Given the description of an element on the screen output the (x, y) to click on. 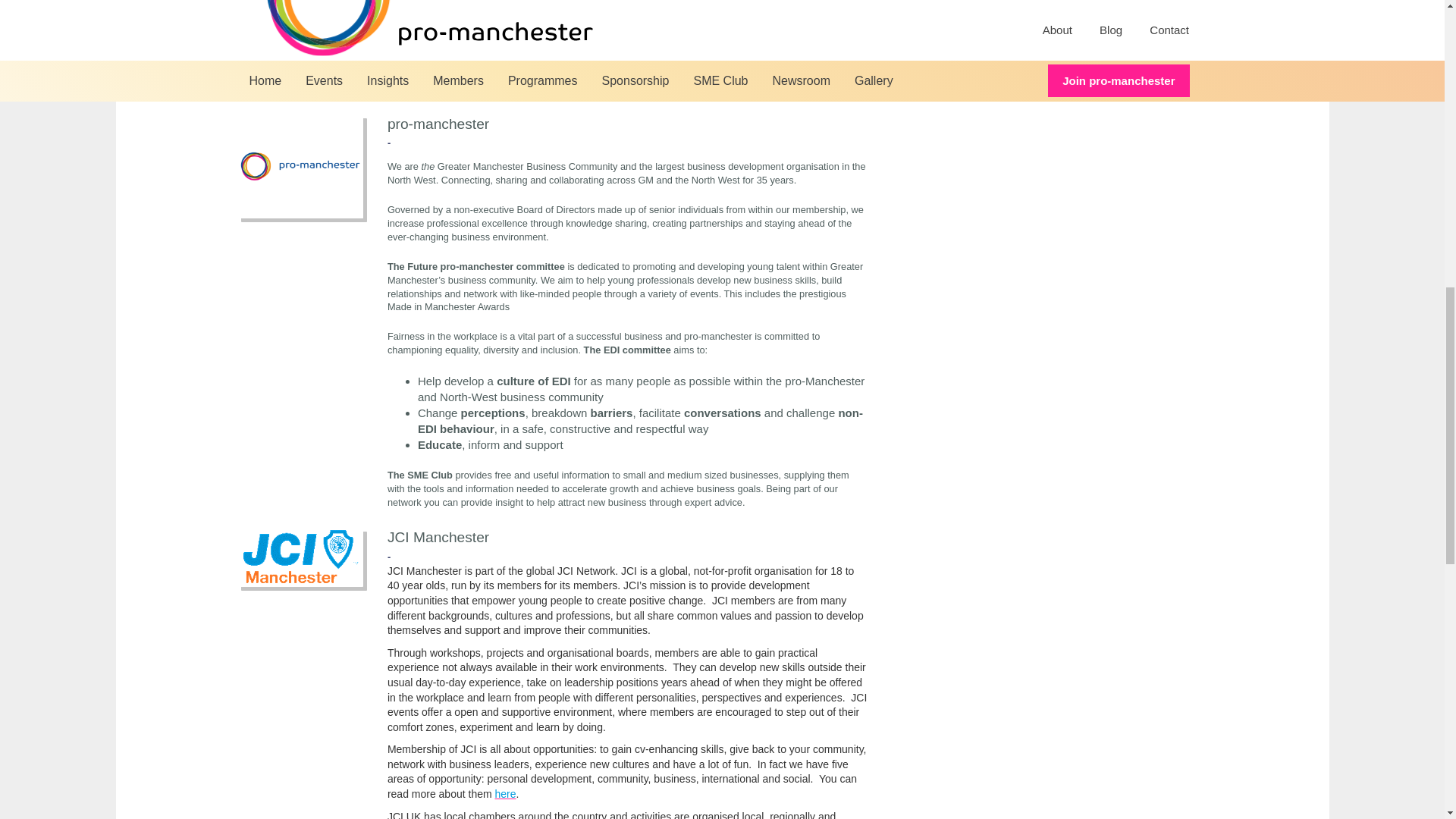
here (505, 793)
